Given the description of an element on the screen output the (x, y) to click on. 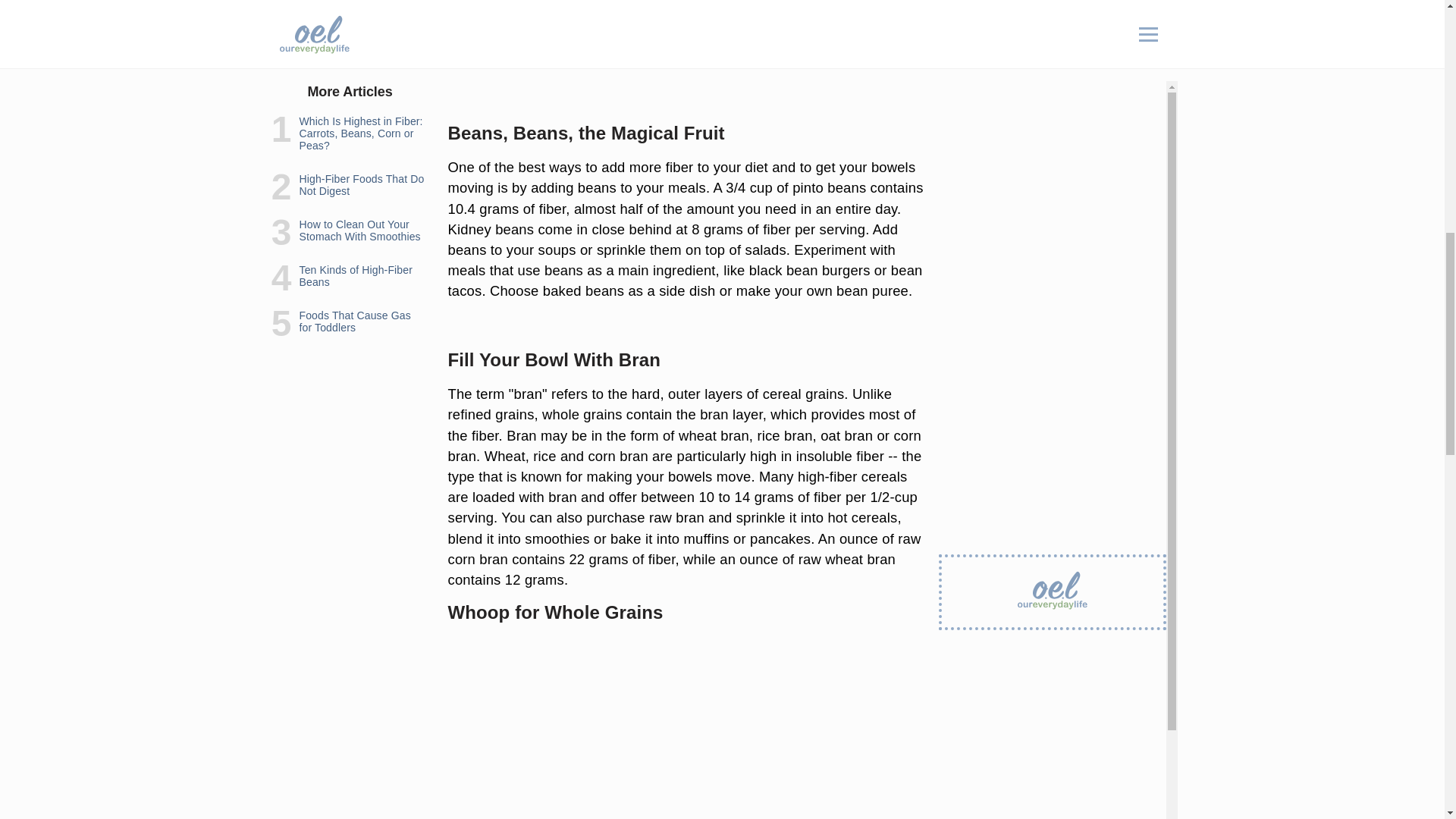
Advertisement (686, 55)
Advertisement (685, 727)
